Given the description of an element on the screen output the (x, y) to click on. 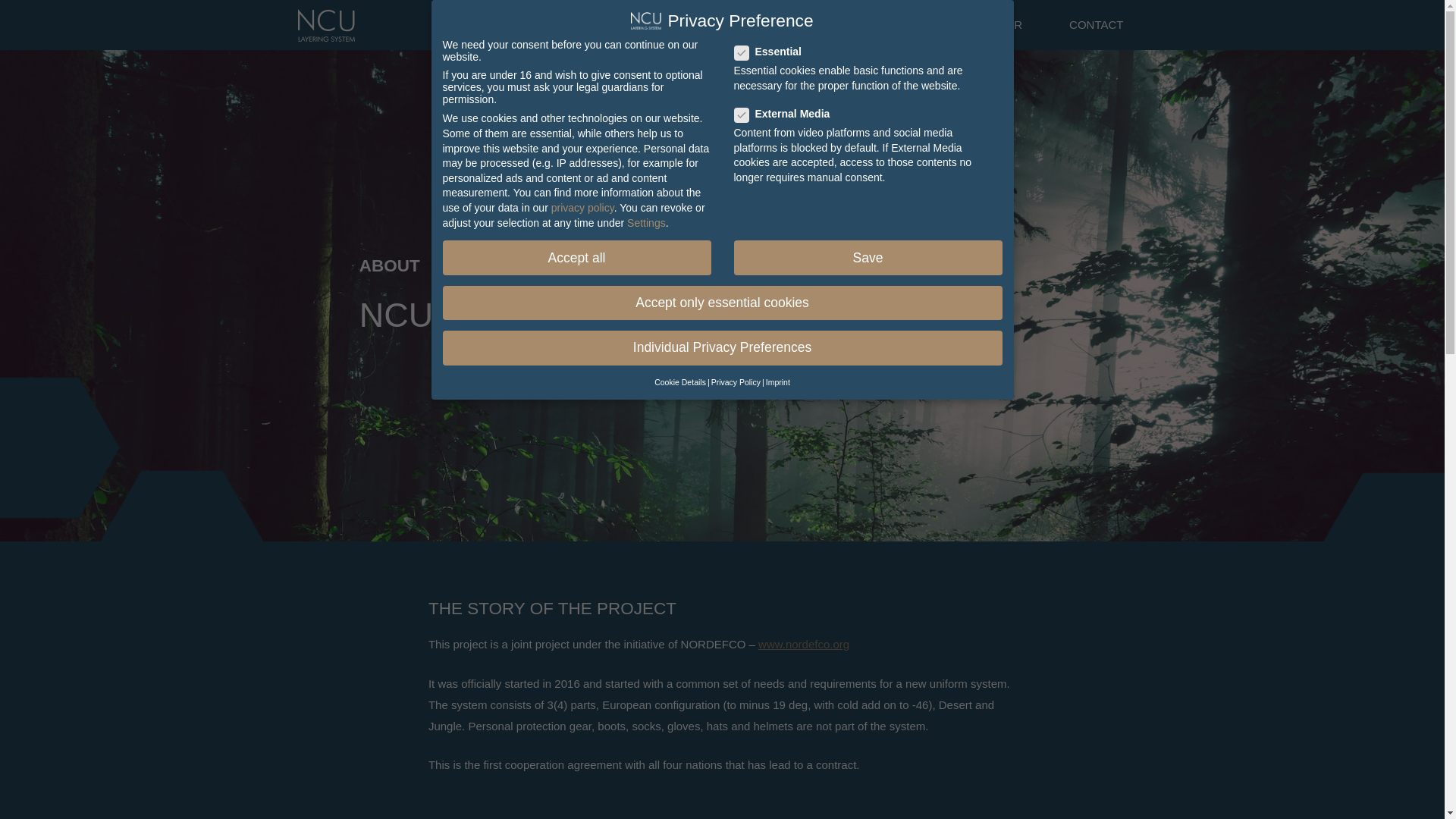
CONTACT (1096, 24)
SYSTEM (817, 24)
NEWS (724, 24)
ABOUT (633, 24)
Artwork 1 (325, 25)
